Given the description of an element on the screen output the (x, y) to click on. 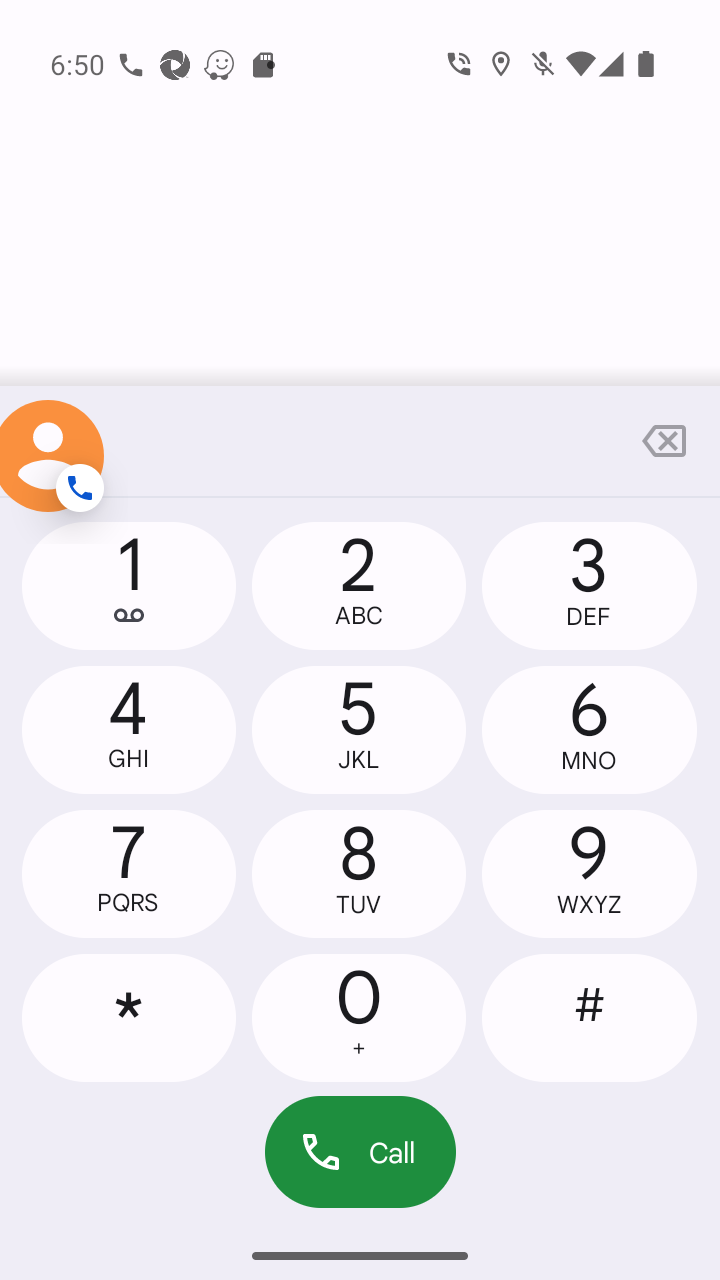
backspace (663, 441)
1, 1 (129, 586)
2,ABC 2 ABC (358, 586)
3,DEF 3 DEF (588, 586)
4,GHI 4 GHI (129, 729)
5,JKL 5 JKL (358, 729)
6,MNO 6 MNO (588, 729)
7,PQRS 7 PQRS (129, 874)
8,TUV 8 TUV (358, 874)
9,WXYZ 9 WXYZ (588, 874)
* (129, 1017)
0 0 + (358, 1017)
# (588, 1017)
Call dial (359, 1151)
